Given the description of an element on the screen output the (x, y) to click on. 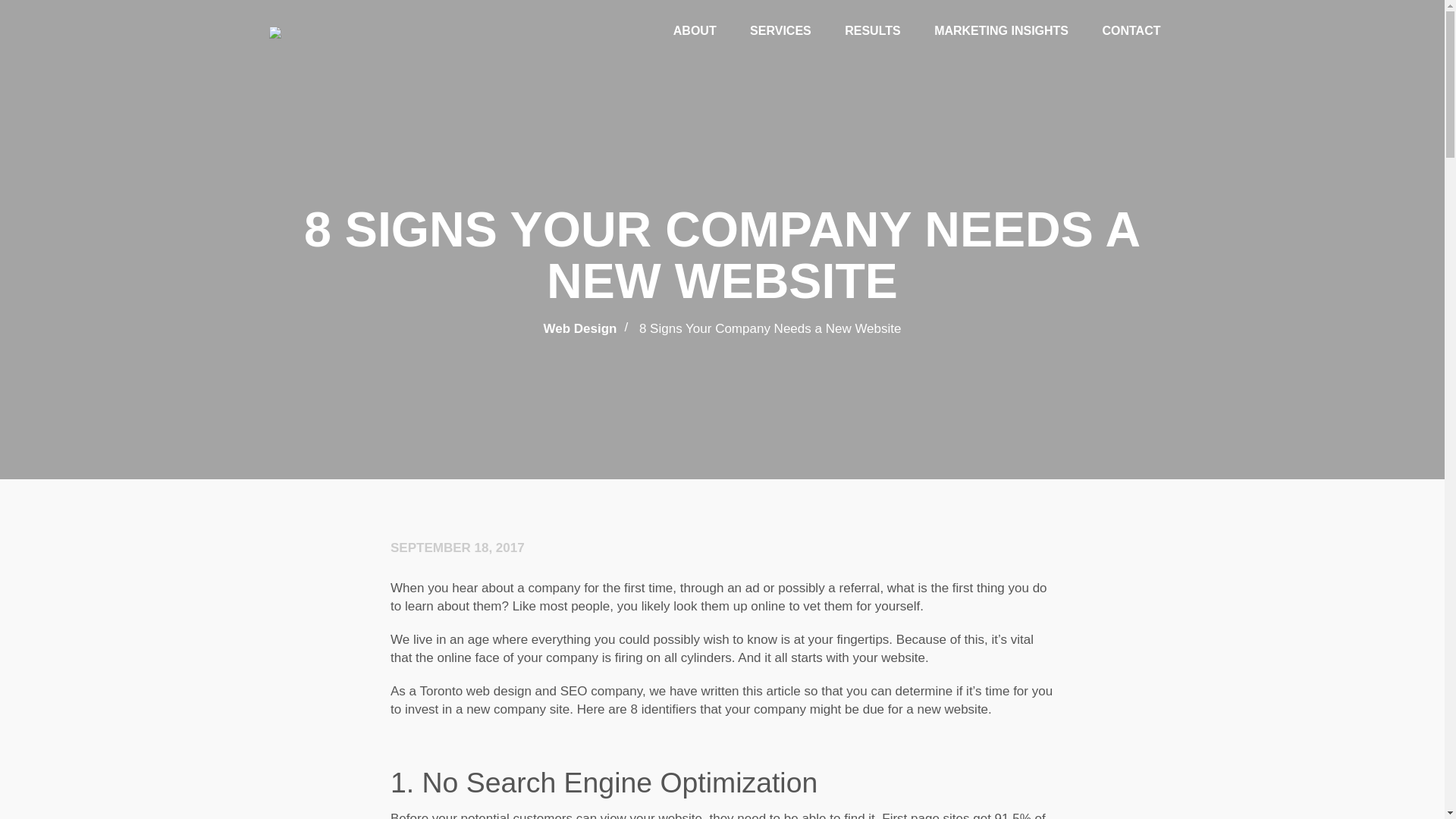
MARKETING INSIGHTS (1001, 30)
CONTACT (1131, 30)
SERVICES (780, 30)
Web Design (579, 328)
RESULTS (871, 30)
ABOUT (695, 30)
